Given the description of an element on the screen output the (x, y) to click on. 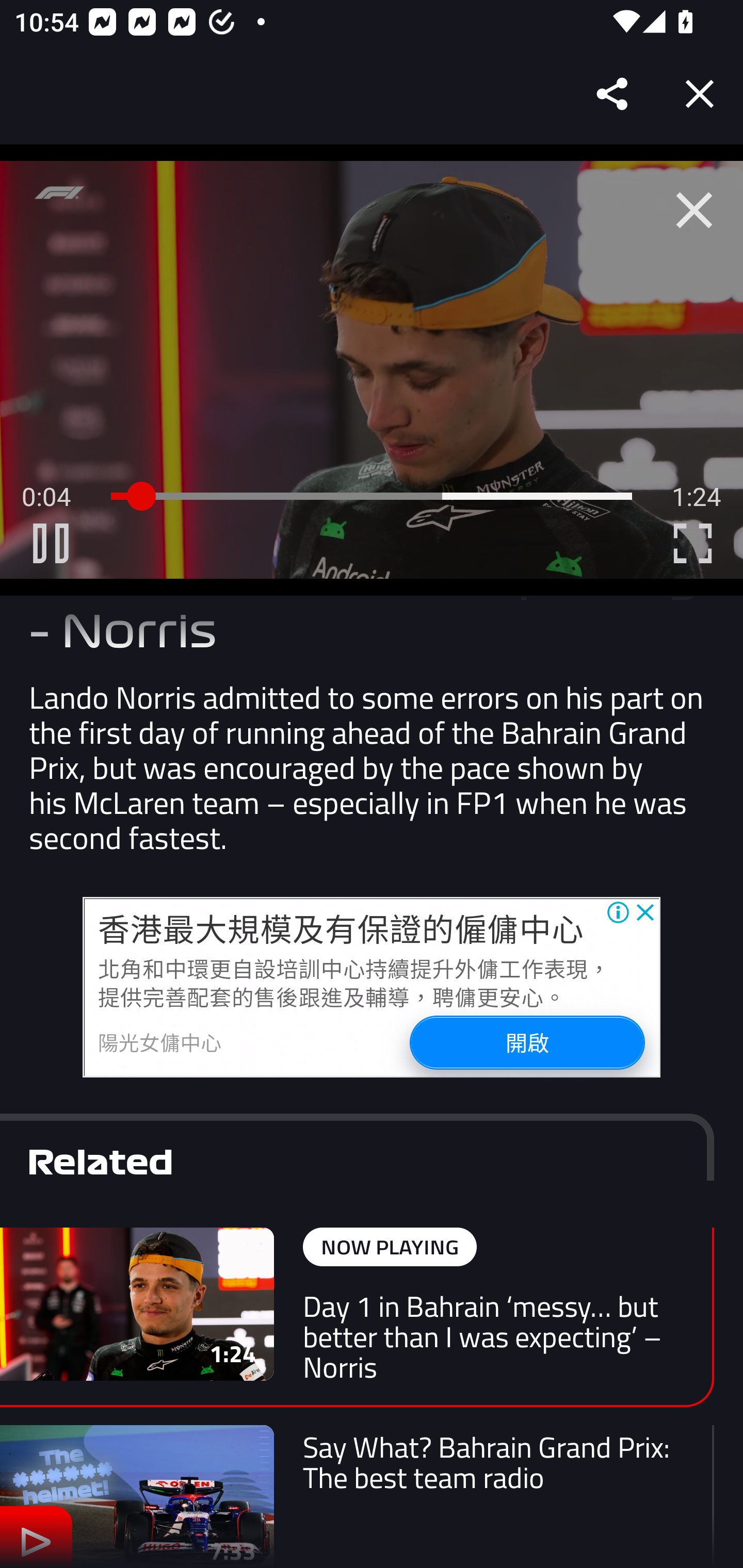
Share (612, 93)
Close (699, 93)
 Close (693, 210)
B Pause (50, 543)
C Enter Fullscreen (692, 543)
香港最大規模及有保證的僱傭中心 (340, 928)
開啟 (526, 1042)
陽光女傭中心 (160, 1041)
